Given the description of an element on the screen output the (x, y) to click on. 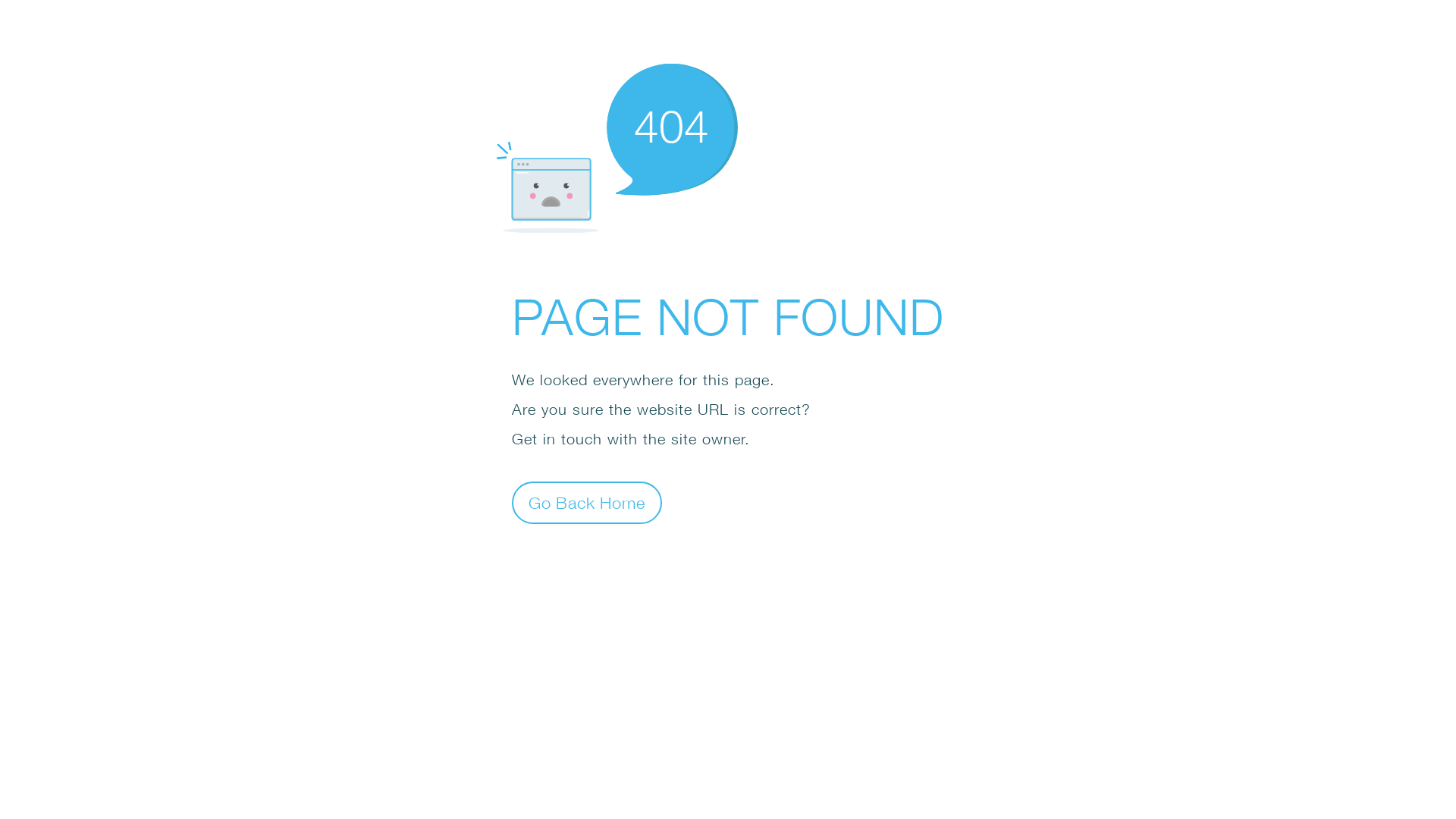
Go Back Home Element type: text (586, 502)
